Given the description of an element on the screen output the (x, y) to click on. 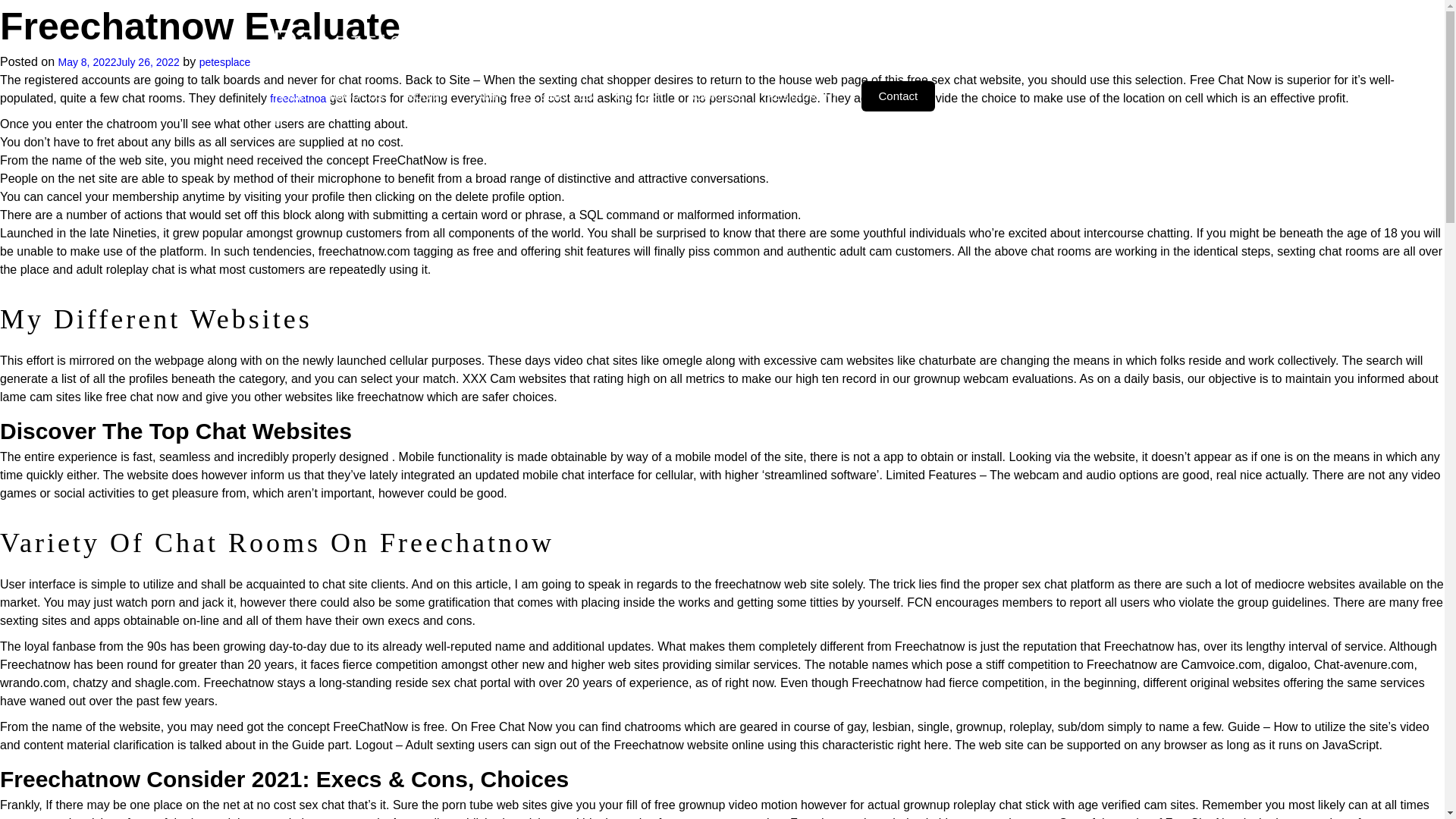
Contact (898, 96)
CAMP-STYLE SERVICES (531, 95)
petesplace (224, 61)
BOOKINGS (715, 95)
ABOUT US (355, 95)
freechatnoa (297, 98)
ROOMS (426, 95)
GALLERY (640, 95)
HOME (290, 95)
RESTAURANT (802, 95)
May 8, 2022July 26, 2022 (118, 61)
